Given the description of an element on the screen output the (x, y) to click on. 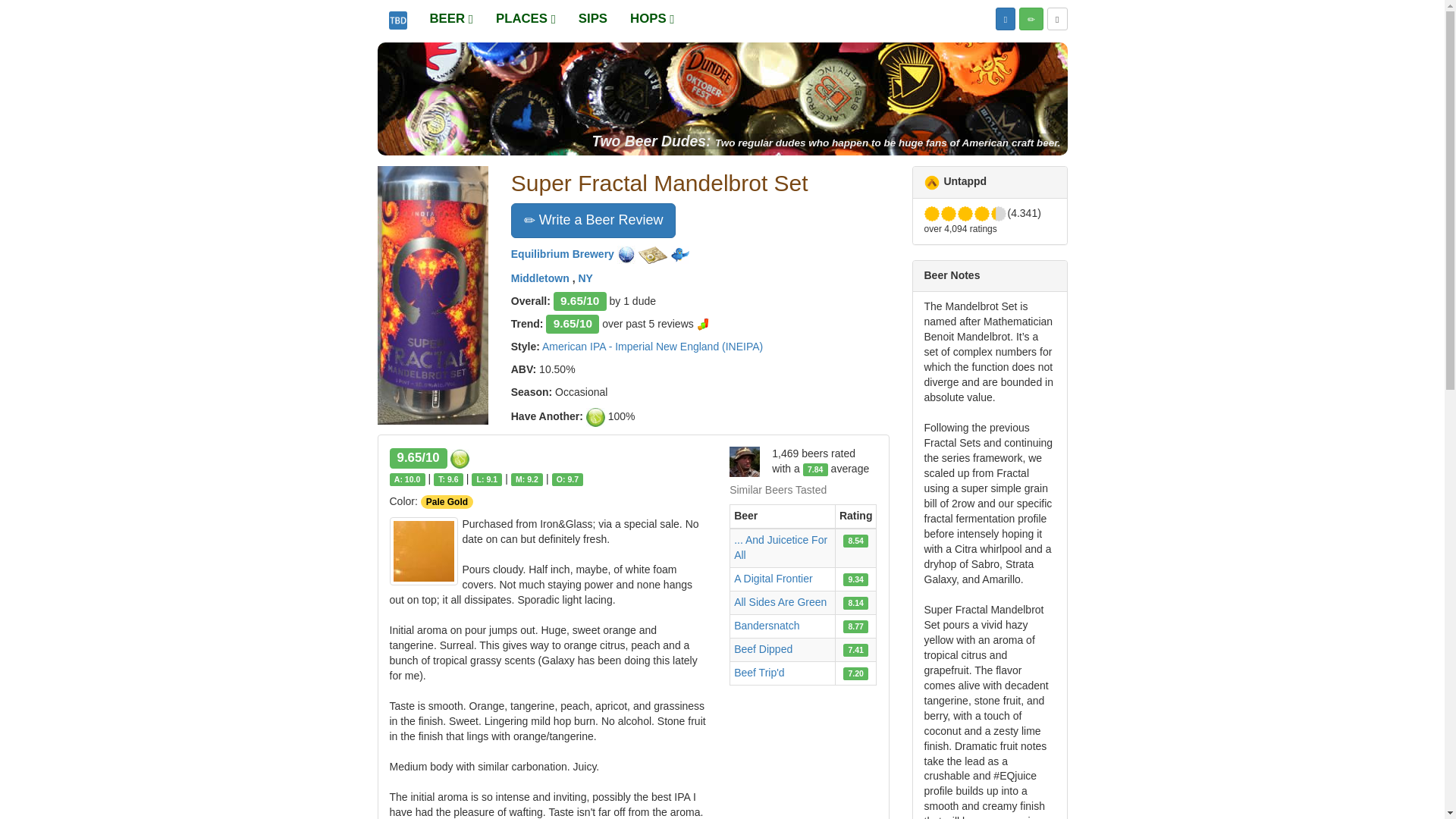
NY (585, 277)
Bandersnatch (766, 625)
EQBrewery (679, 254)
Write a Beer Review (594, 220)
map for Equilibrium Brewery (653, 254)
PLACES (525, 18)
Equilibrium Brewery web site (625, 254)
All Sides Are Green (780, 602)
Middletown (541, 277)
A Digital Frontier (772, 578)
SIPS (592, 18)
Super Fractal Mandelbrot Set - Equilibrium Brewery (432, 295)
... And Juicetice For All (780, 547)
BEER (451, 18)
Beef Trip'd (758, 672)
